Given the description of an element on the screen output the (x, y) to click on. 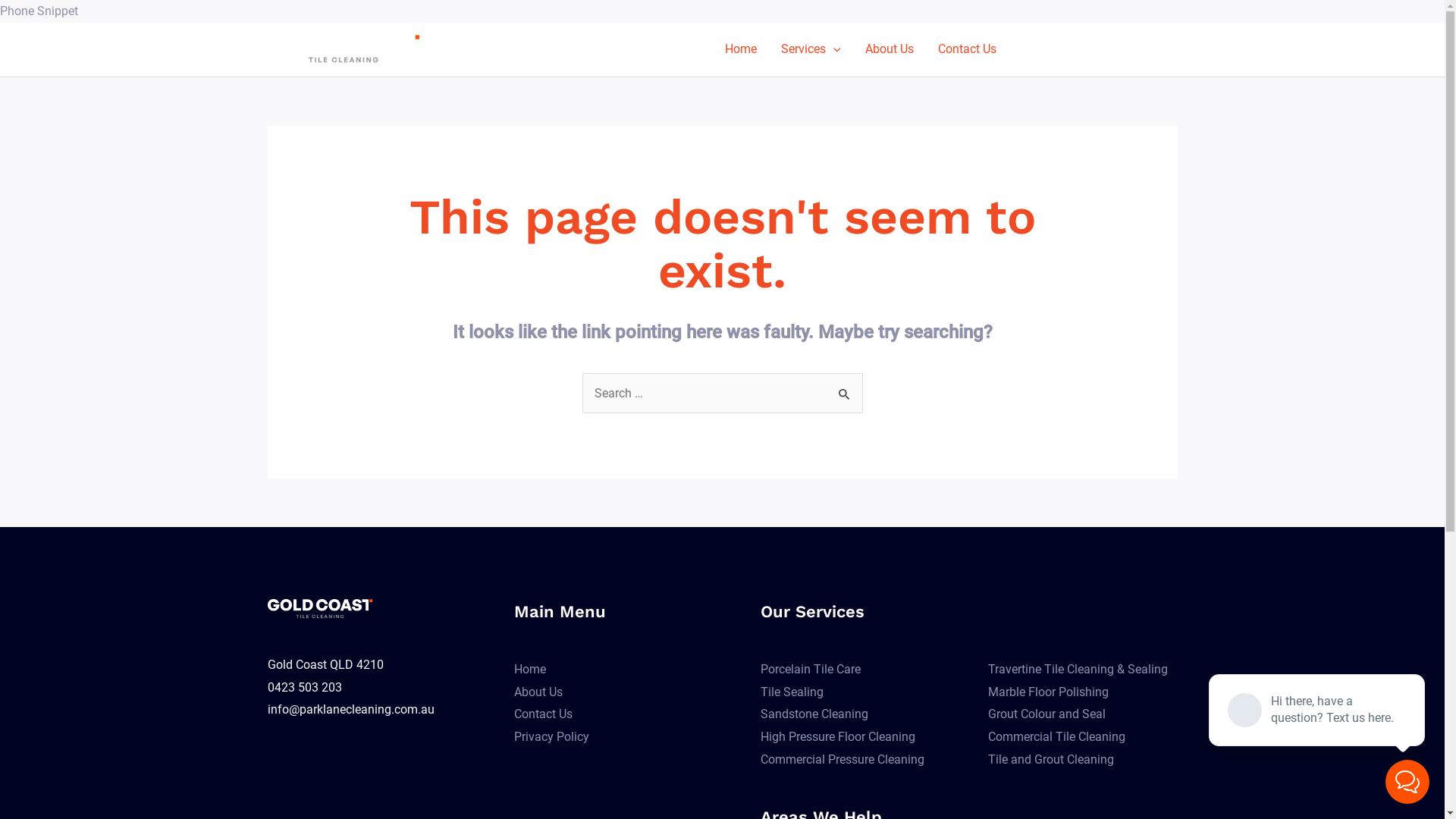
Marble Floor Polishing Element type: text (1047, 691)
Porcelain Tile Care Element type: text (809, 669)
Contact Us Element type: text (543, 713)
Travertine Tile Cleaning & Sealing Element type: text (1077, 669)
About Us Element type: text (888, 48)
Commercial Tile Cleaning Element type: text (1055, 736)
Home Element type: text (530, 669)
About Us Element type: text (538, 691)
Tile and Grout Cleaning Element type: text (1050, 759)
High Pressure Floor Cleaning Element type: text (836, 736)
Tile Sealing Element type: text (790, 691)
Services Element type: text (810, 48)
Privacy Policy Element type: text (551, 736)
Sandstone Cleaning Element type: text (813, 713)
Home Element type: text (740, 48)
Search Element type: text (845, 388)
Grout Colour and Seal Element type: text (1045, 713)
Contact Us Element type: text (966, 48)
Commercial Pressure Cleaning Element type: text (841, 759)
